Given the description of an element on the screen output the (x, y) to click on. 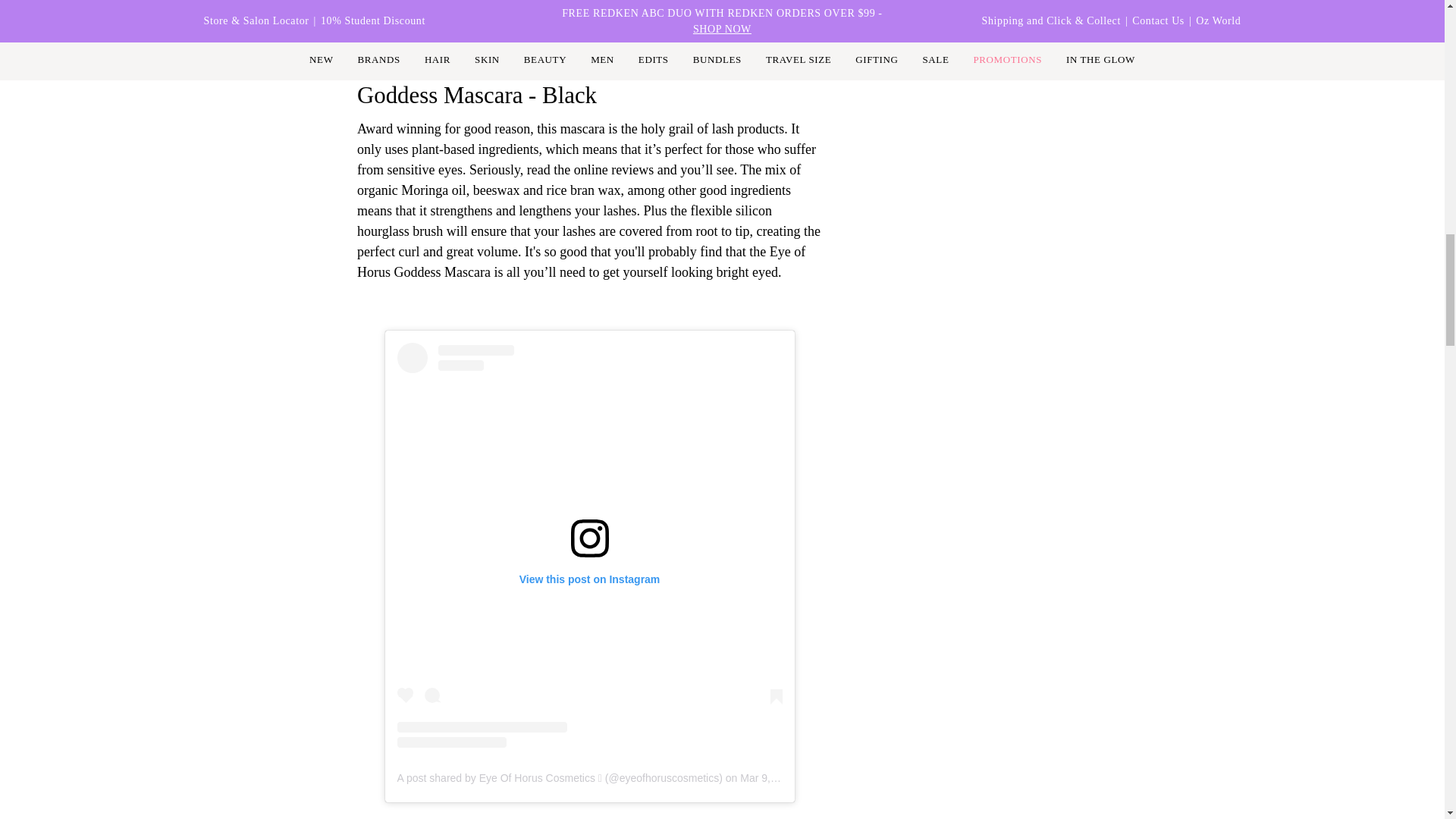
Goddess Mascara - Black (476, 95)
